Given the description of an element on the screen output the (x, y) to click on. 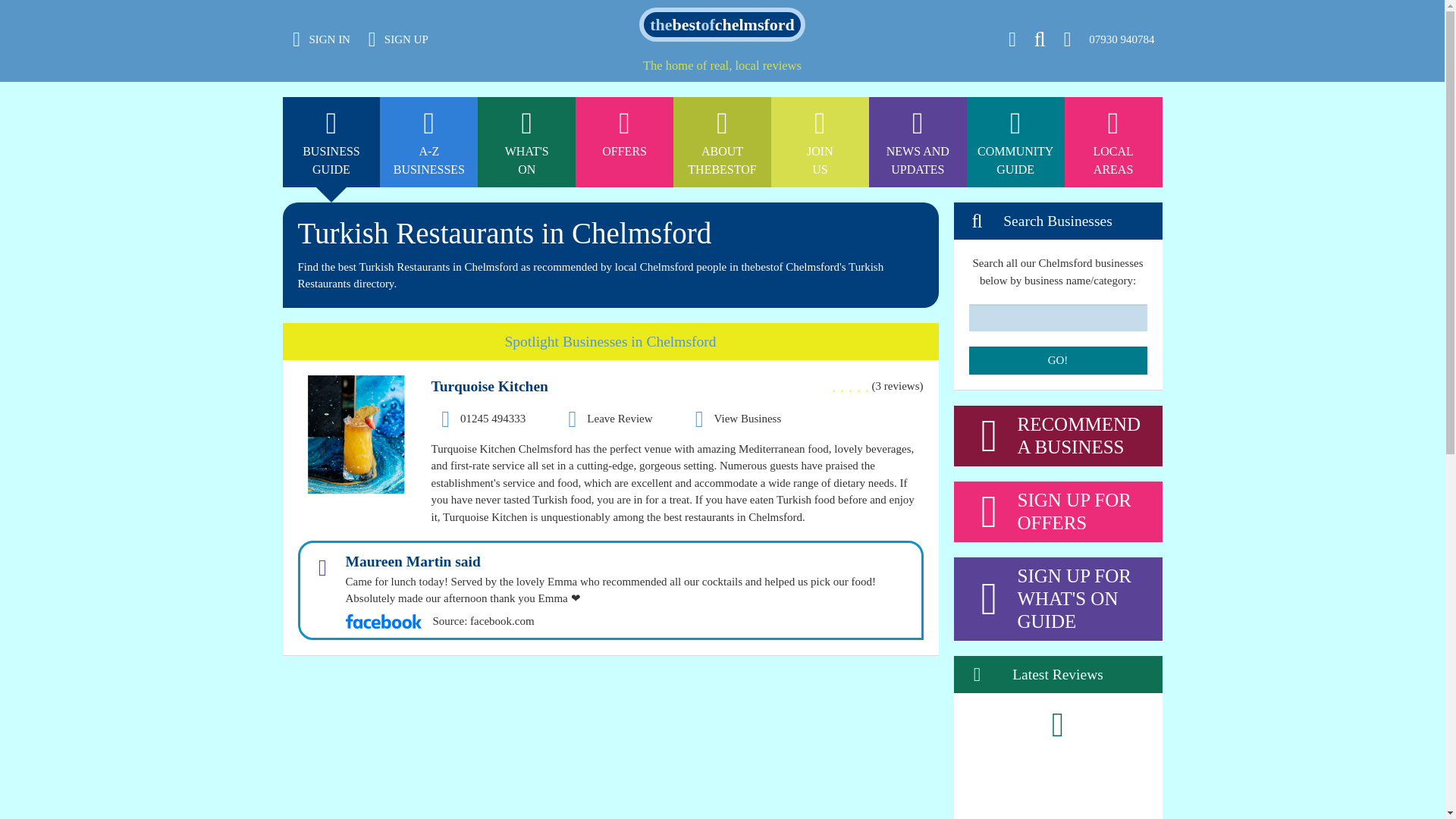
SIGN IN (917, 7)
thebestofchelmsford (321, 39)
